Given the description of an element on the screen output the (x, y) to click on. 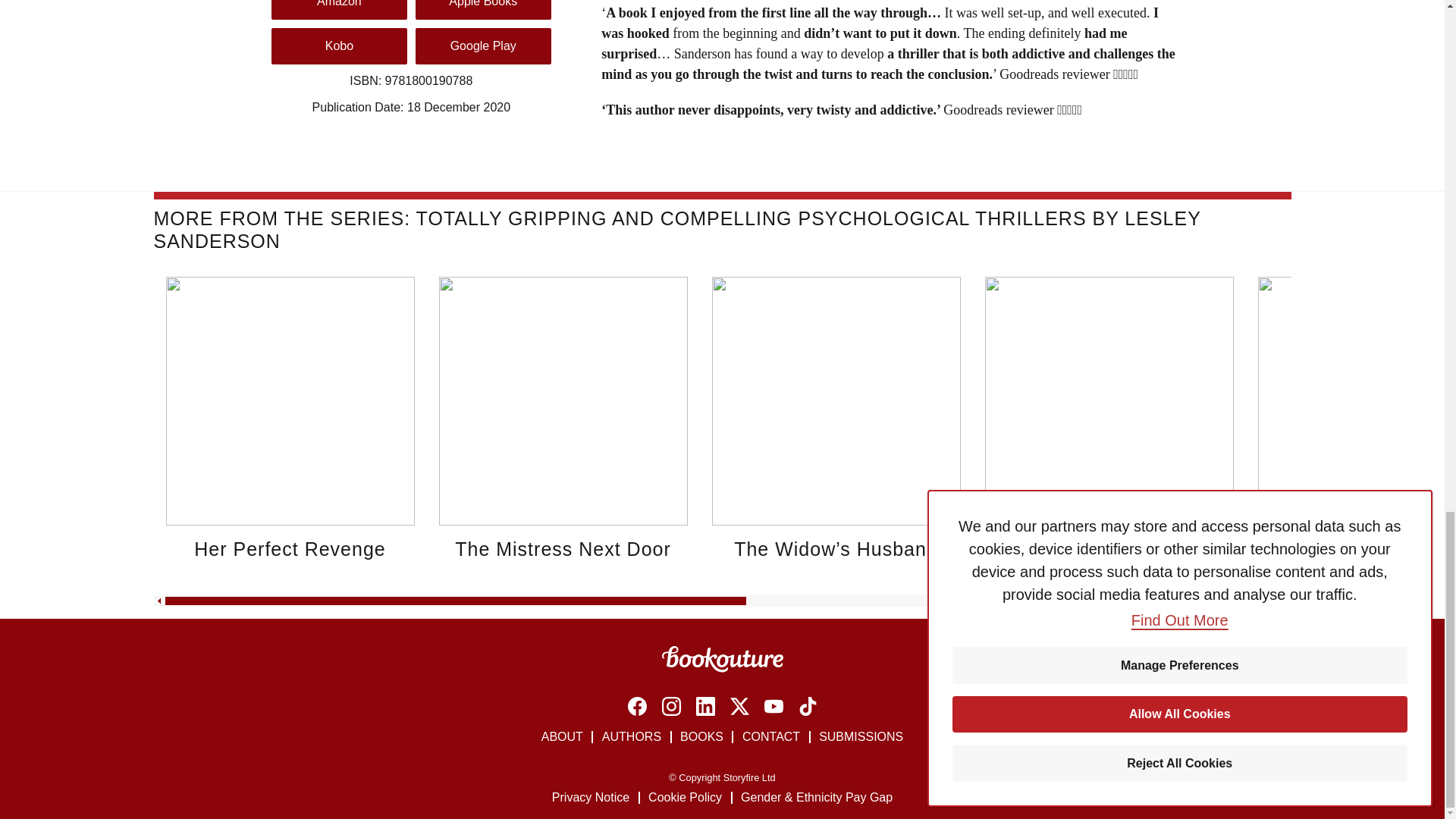
Her Perfect Revenge (289, 548)
The Mistress Next Door (562, 548)
